Given the description of an element on the screen output the (x, y) to click on. 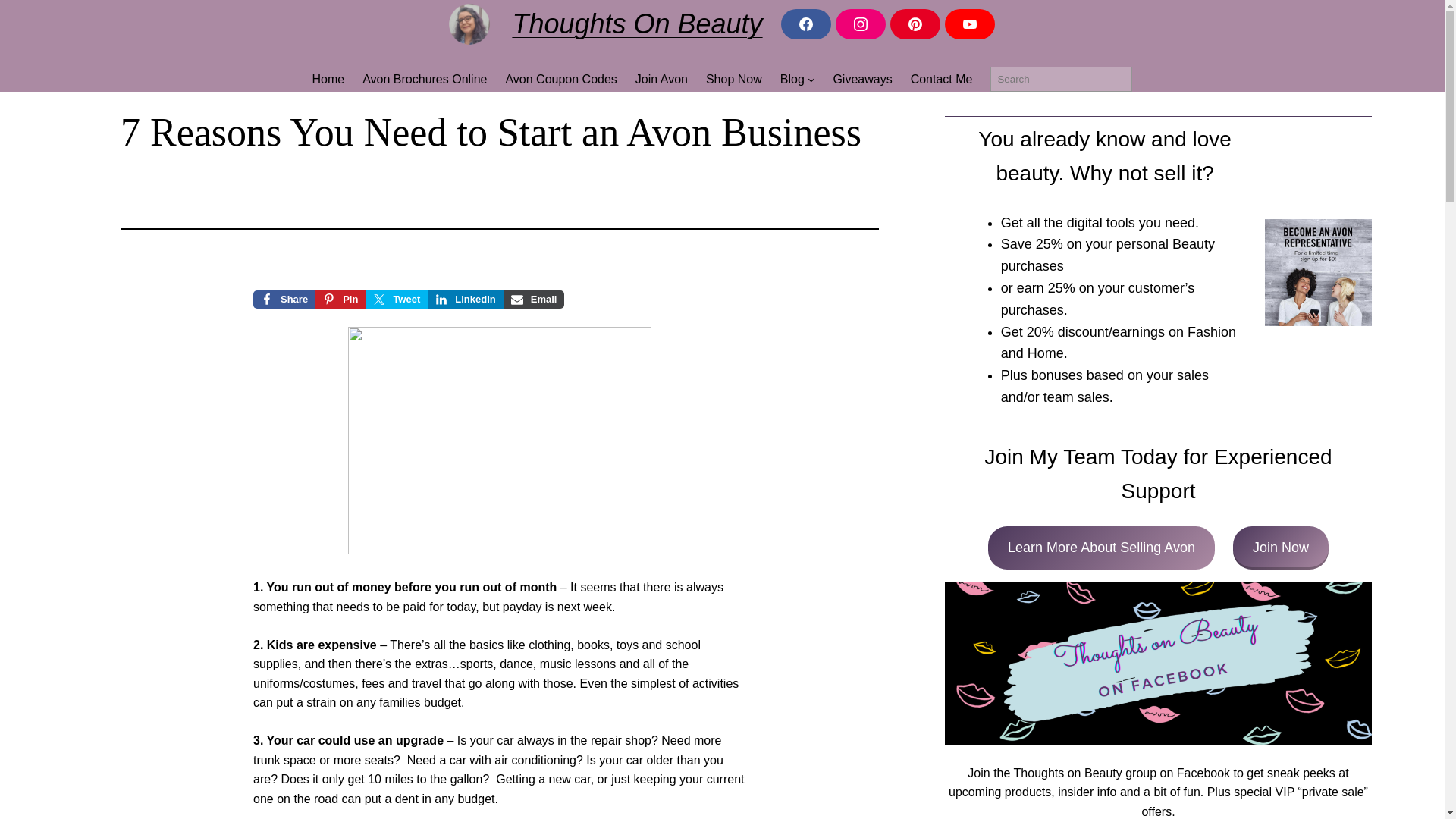
Email (533, 299)
Contact Me (941, 79)
Tweet (396, 299)
Thoughts On Beauty (636, 23)
YouTube (969, 24)
Giveaways (861, 79)
Join Avon (660, 79)
Avon Coupon Codes (560, 79)
Pinterest (914, 24)
Share on Twitter (396, 299)
